Given the description of an element on the screen output the (x, y) to click on. 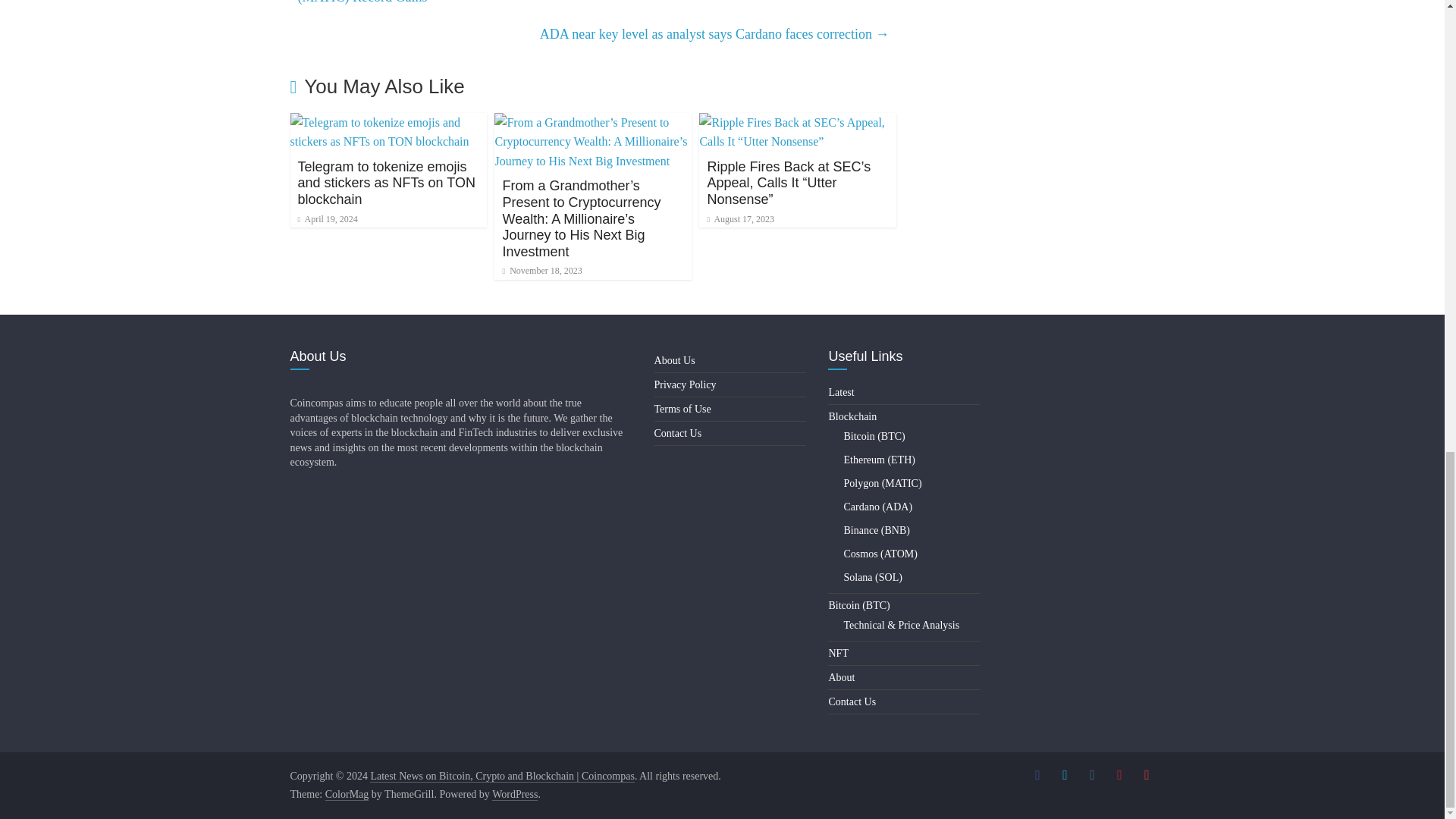
4:17 pm (326, 218)
